Given the description of an element on the screen output the (x, y) to click on. 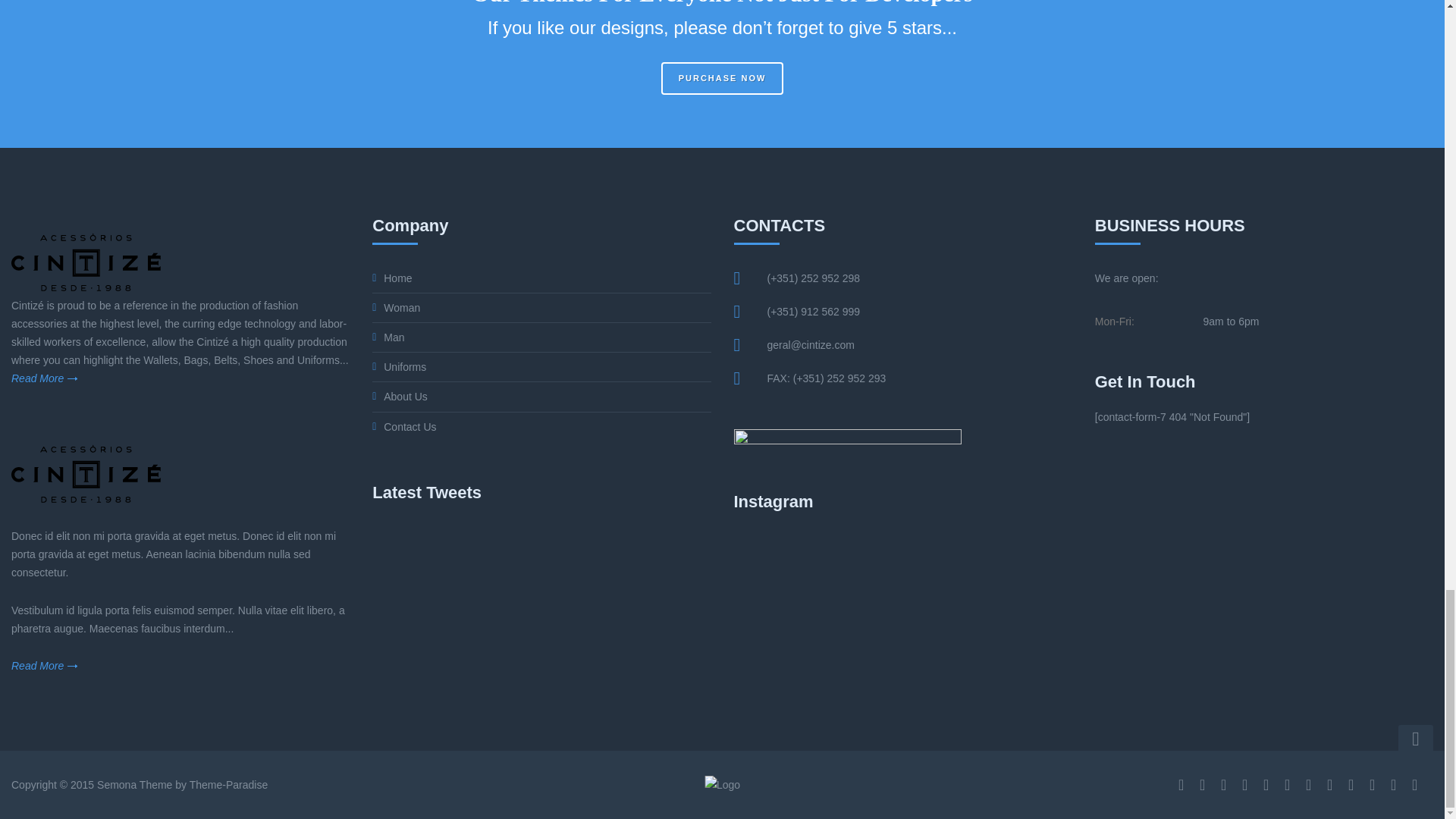
PURCHASE NOW (722, 78)
Logo (85, 261)
Logo (85, 473)
Purchase now (722, 78)
Logo (721, 784)
